Given the description of an element on the screen output the (x, y) to click on. 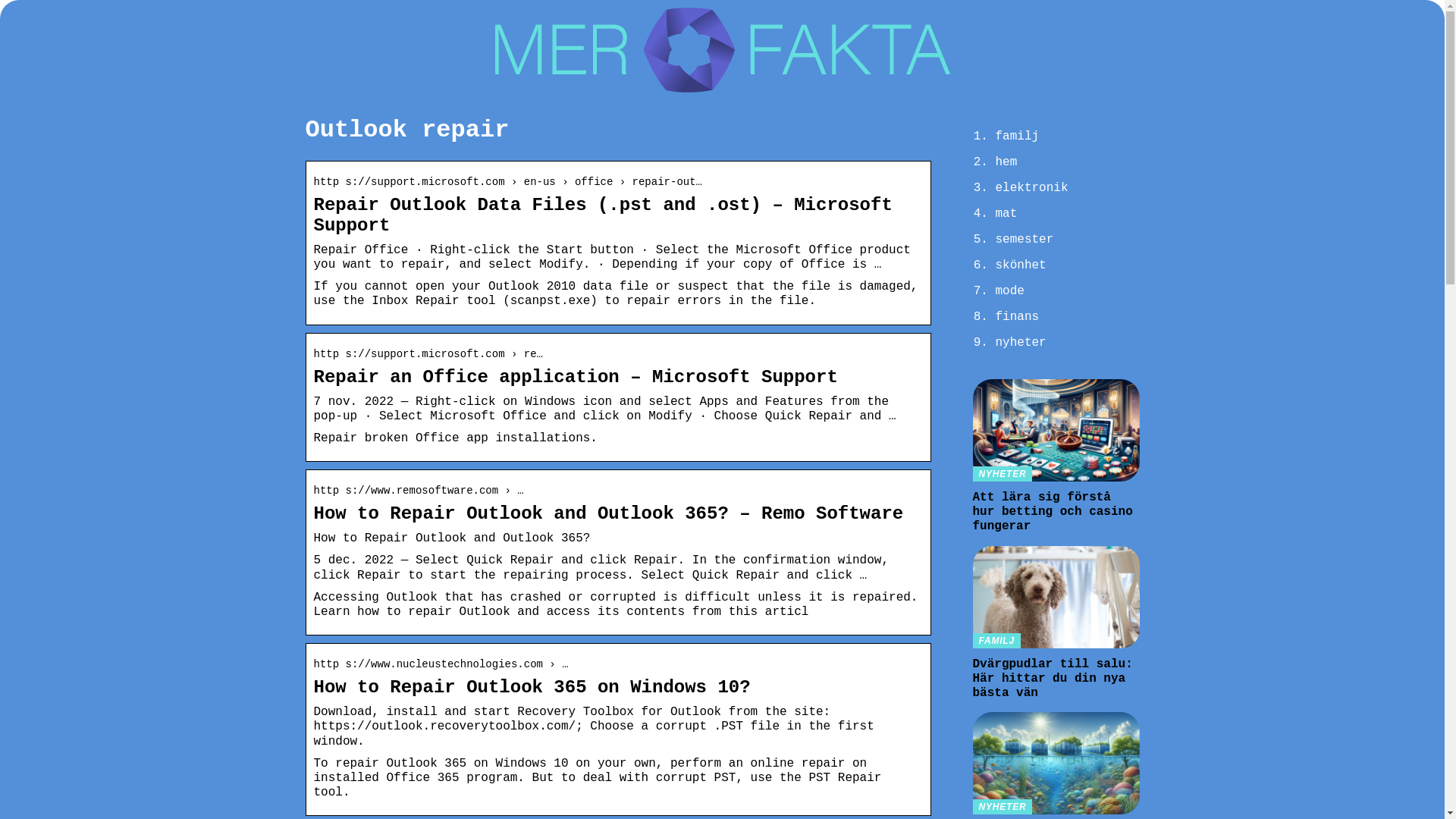
elektronik (1030, 187)
familj (1016, 136)
nyheter (1019, 342)
mat (1005, 213)
finans (1016, 316)
mode (1008, 291)
hem (1005, 161)
semester (1023, 239)
